Given the description of an element on the screen output the (x, y) to click on. 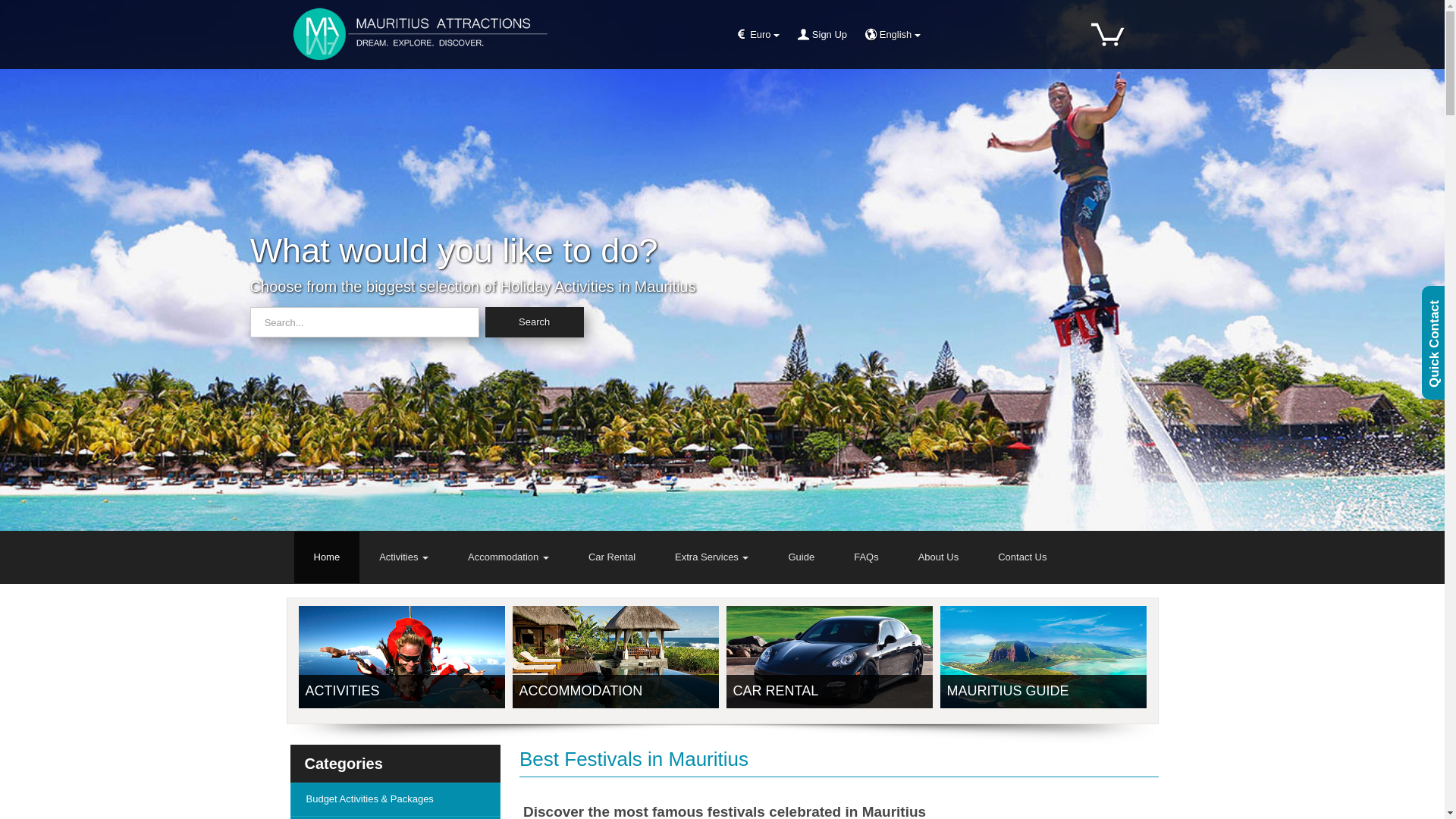
Ecotourism (394, 817)
Shopping Cart (1107, 33)
